Given the description of an element on the screen output the (x, y) to click on. 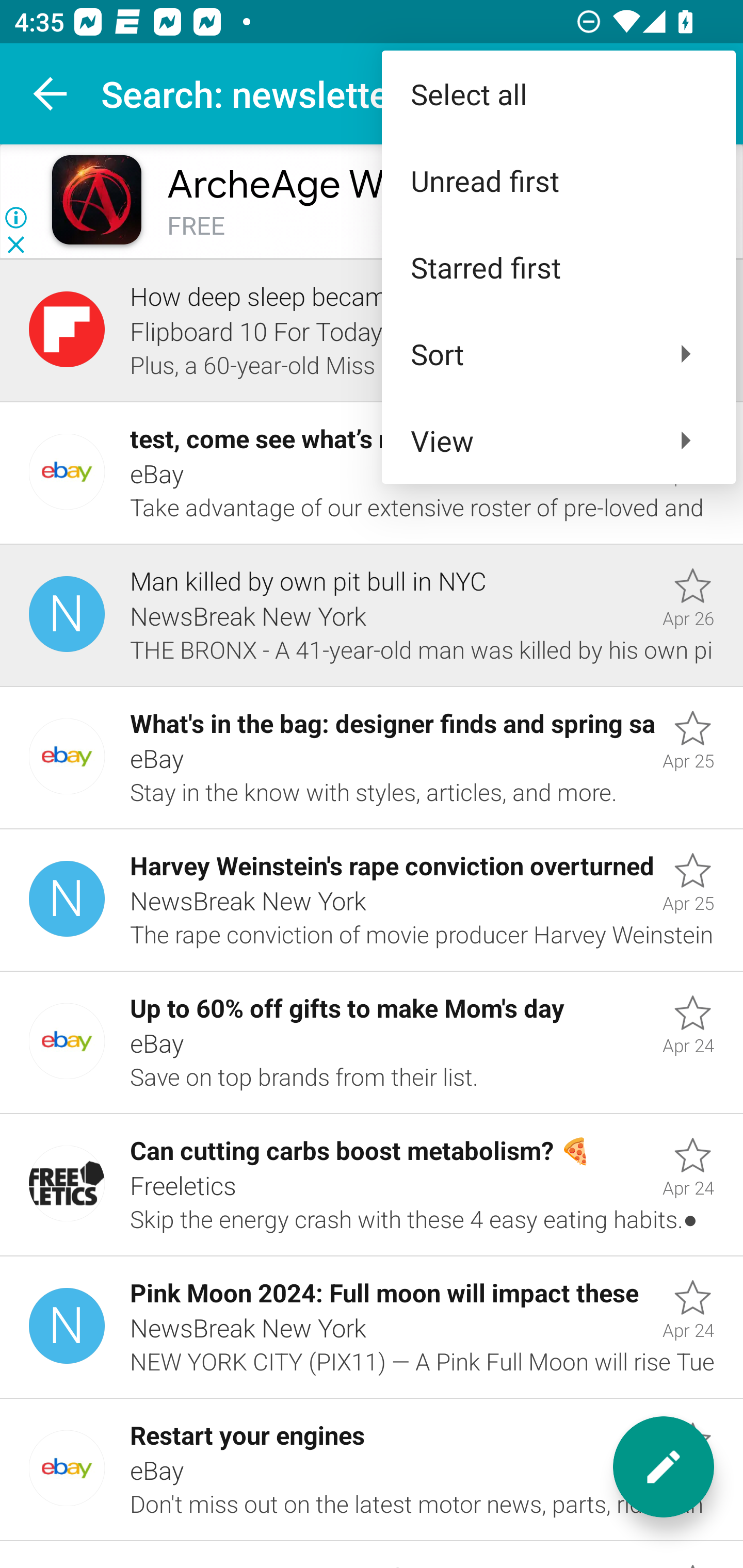
Select all (558, 93)
Unread first (558, 180)
Starred first (558, 267)
Sort (558, 353)
View (558, 440)
